Given the description of an element on the screen output the (x, y) to click on. 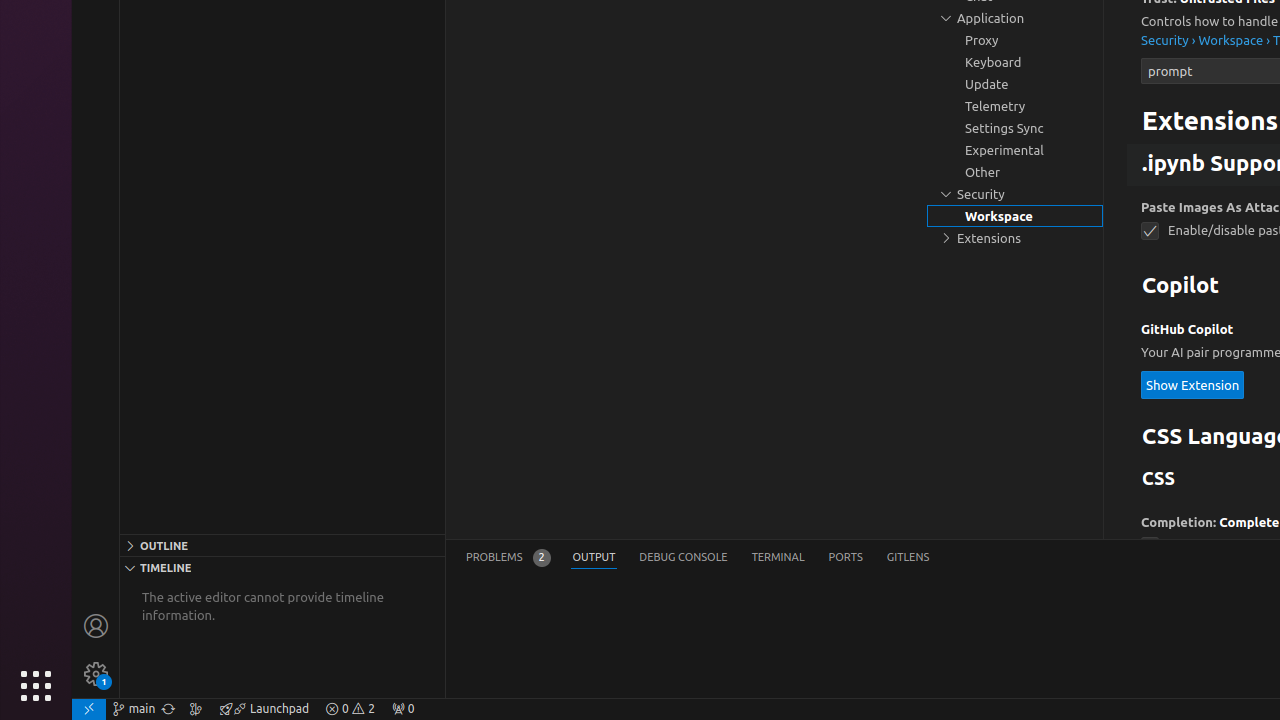
Problems (Ctrl+Shift+M) - Total 2 Problems Element type: page-tab (507, 557)
Other, group Element type: tree-item (1015, 172)
Timeline Section Element type: push-button (282, 567)
Manage - New Code update available. Element type: push-button (96, 674)
Extensions, group Element type: tree-item (1015, 238)
